Given the description of an element on the screen output the (x, y) to click on. 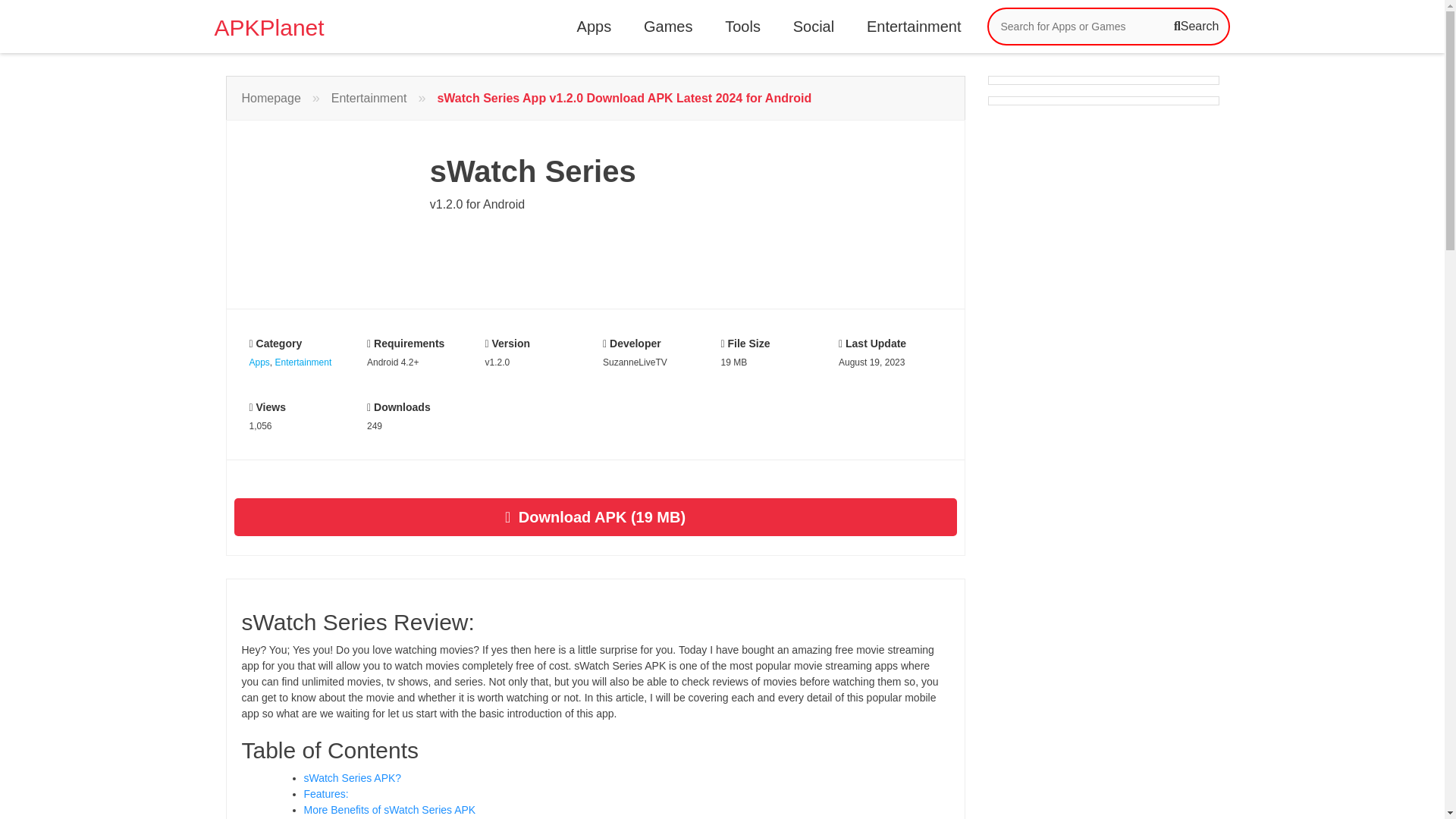
More Benefits of sWatch Series APK (389, 809)
Apps (258, 362)
Entertainment (913, 26)
Entertainment (303, 362)
Entertainment (369, 97)
Homepage (270, 97)
Tools (743, 26)
APKPlanet (268, 23)
Social (812, 26)
Homepage (270, 97)
Search (1195, 26)
Features: (324, 793)
sWatch Series APK? (351, 777)
Games (667, 26)
